Given the description of an element on the screen output the (x, y) to click on. 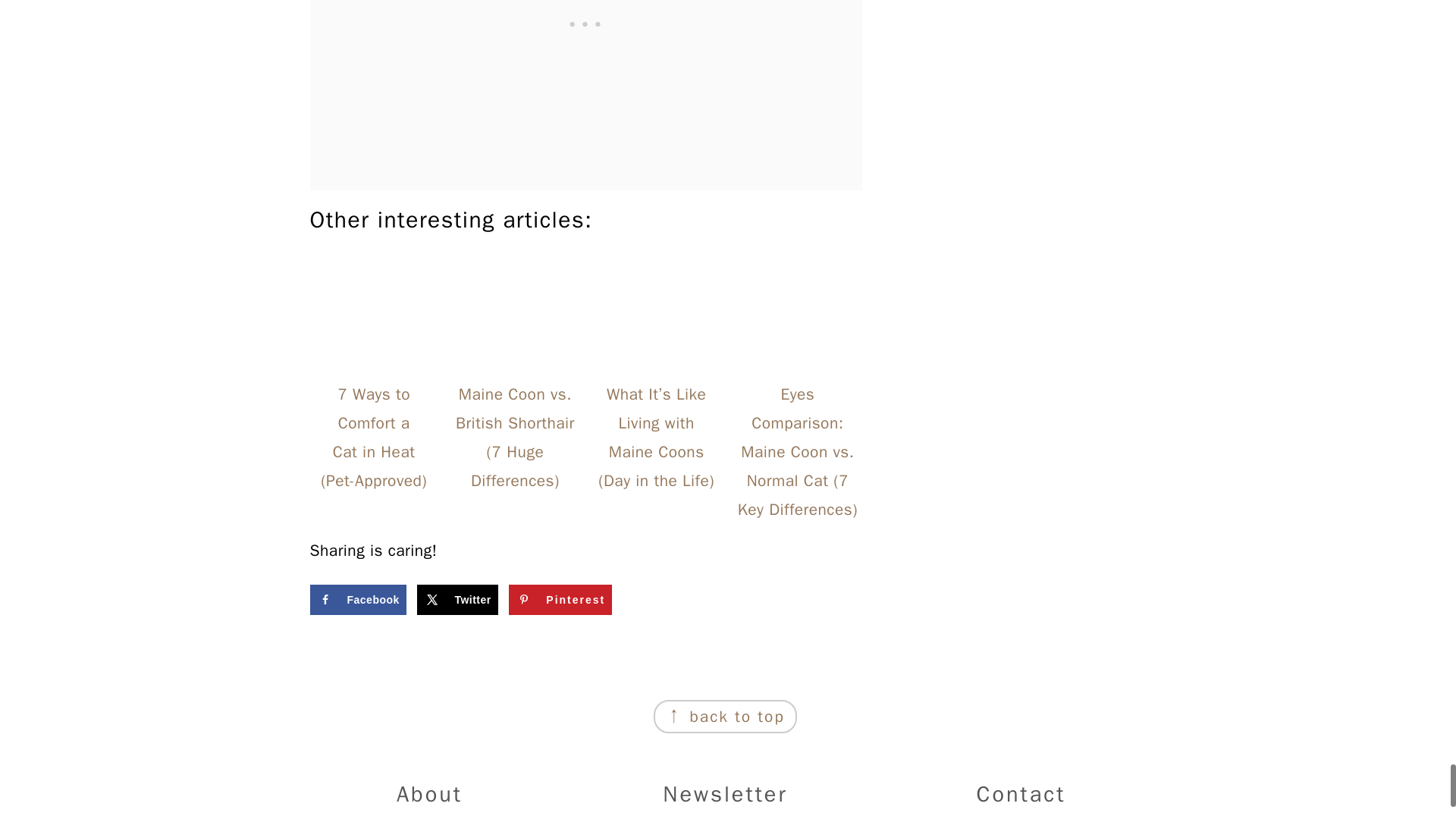
Share on Facebook (357, 599)
Save to Pinterest (559, 599)
Share on X (456, 599)
